Given the description of an element on the screen output the (x, y) to click on. 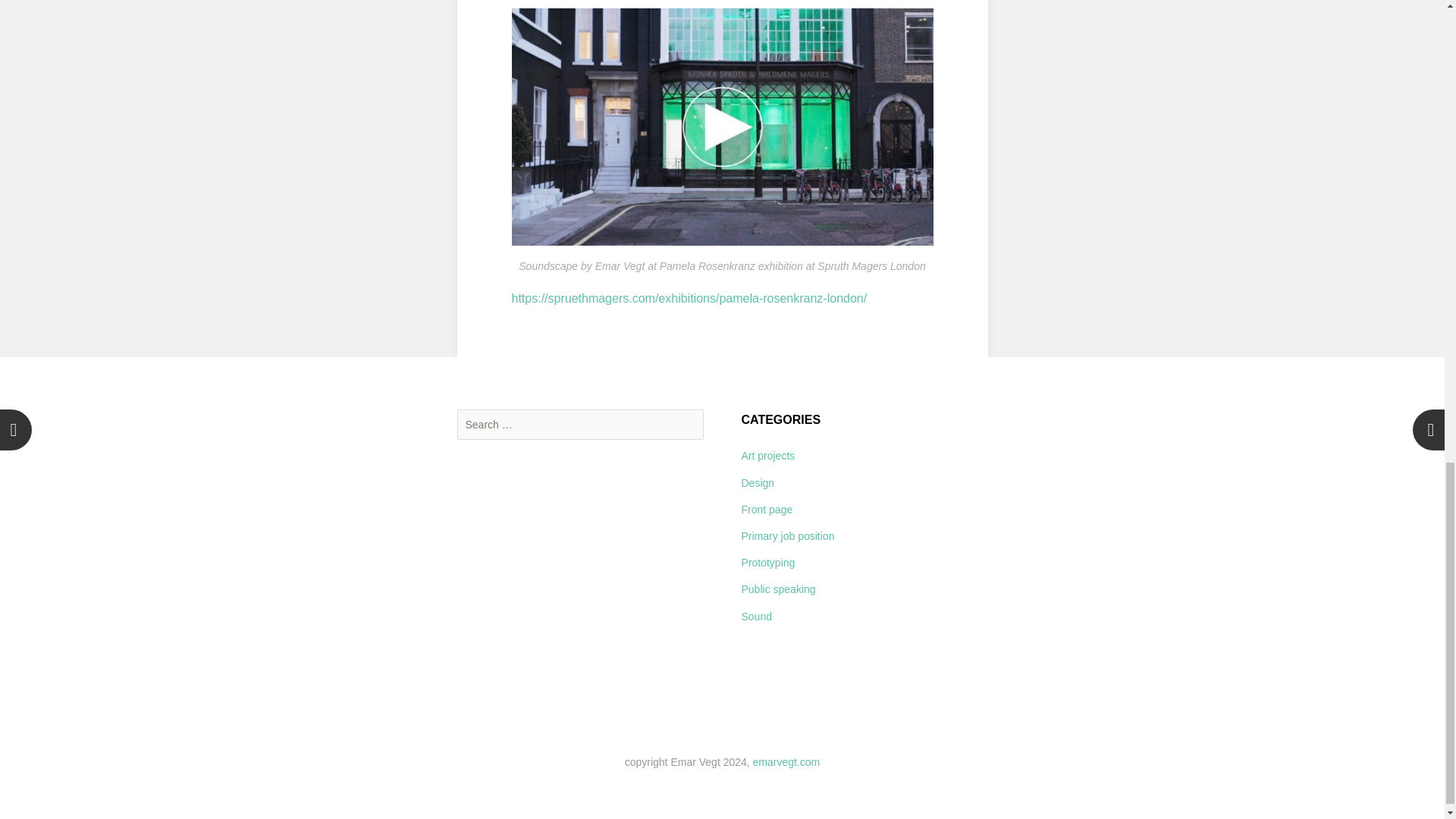
Design (757, 482)
Art projects (767, 455)
emarvegt.com (786, 761)
Front page (767, 509)
Public speaking (778, 589)
Sound (756, 616)
Primary job position (787, 535)
Prototyping (767, 562)
